Given the description of an element on the screen output the (x, y) to click on. 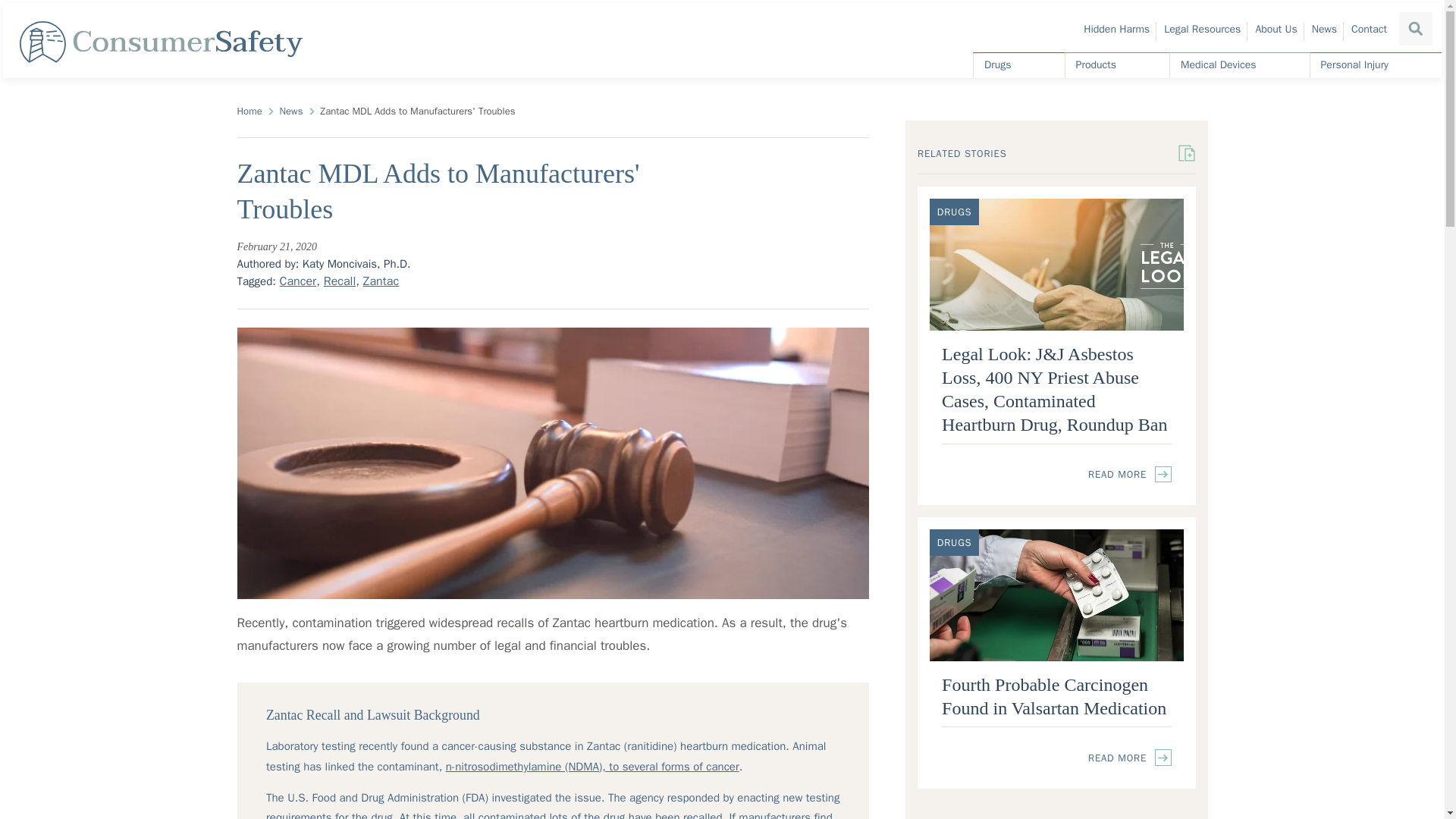
Search the Site (1415, 28)
Products (1117, 64)
Legal Resources (1201, 29)
Personal Injury (1375, 64)
Contact (1369, 29)
Hidden Harms (1116, 29)
Drugs (1019, 64)
Medical Devices (1239, 64)
News (1323, 29)
About Us (1276, 29)
